Given the description of an element on the screen output the (x, y) to click on. 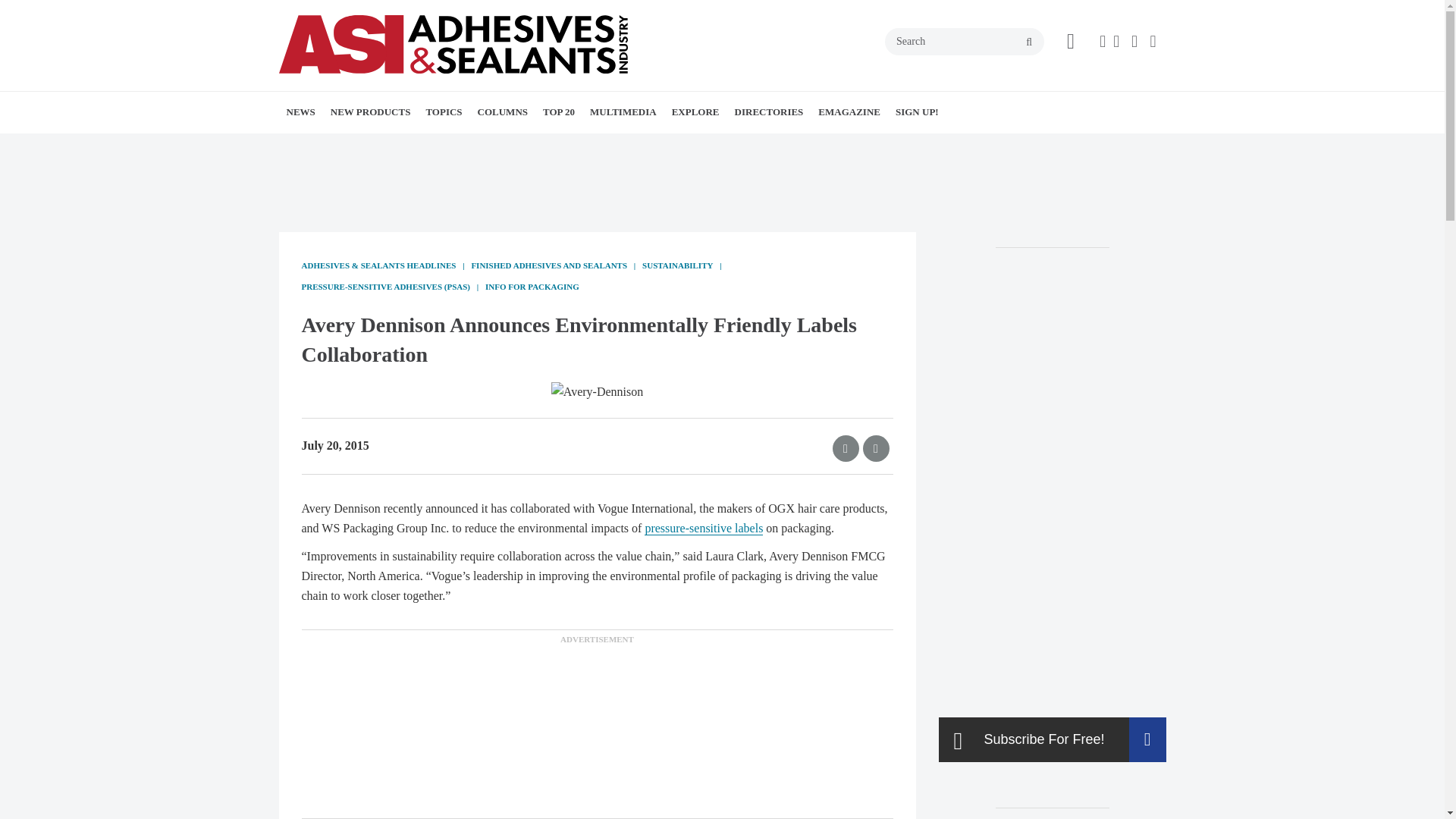
Search (964, 41)
COATINGS (533, 145)
RAW MATERIALS AND CHEMICALS (538, 154)
EVENTS CALENDAR (389, 145)
NEWS (301, 111)
MARKET TRENDS (395, 145)
COLUMNS (502, 111)
FINISHED ADHESIVES AND SEALANTS (512, 154)
search (1029, 42)
CURING (552, 145)
